Given the description of an element on the screen output the (x, y) to click on. 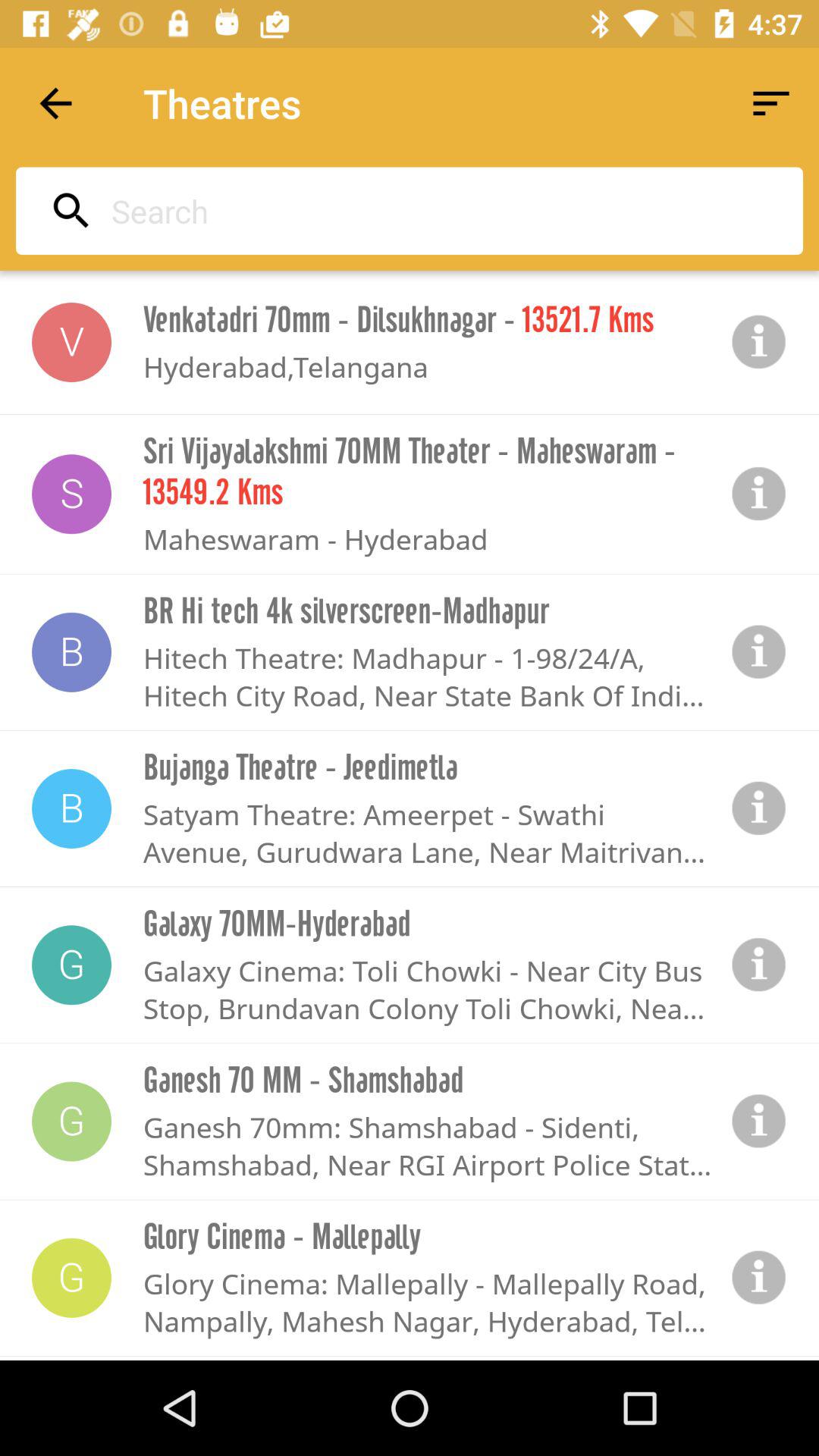
additional info (759, 1277)
